Given the description of an element on the screen output the (x, y) to click on. 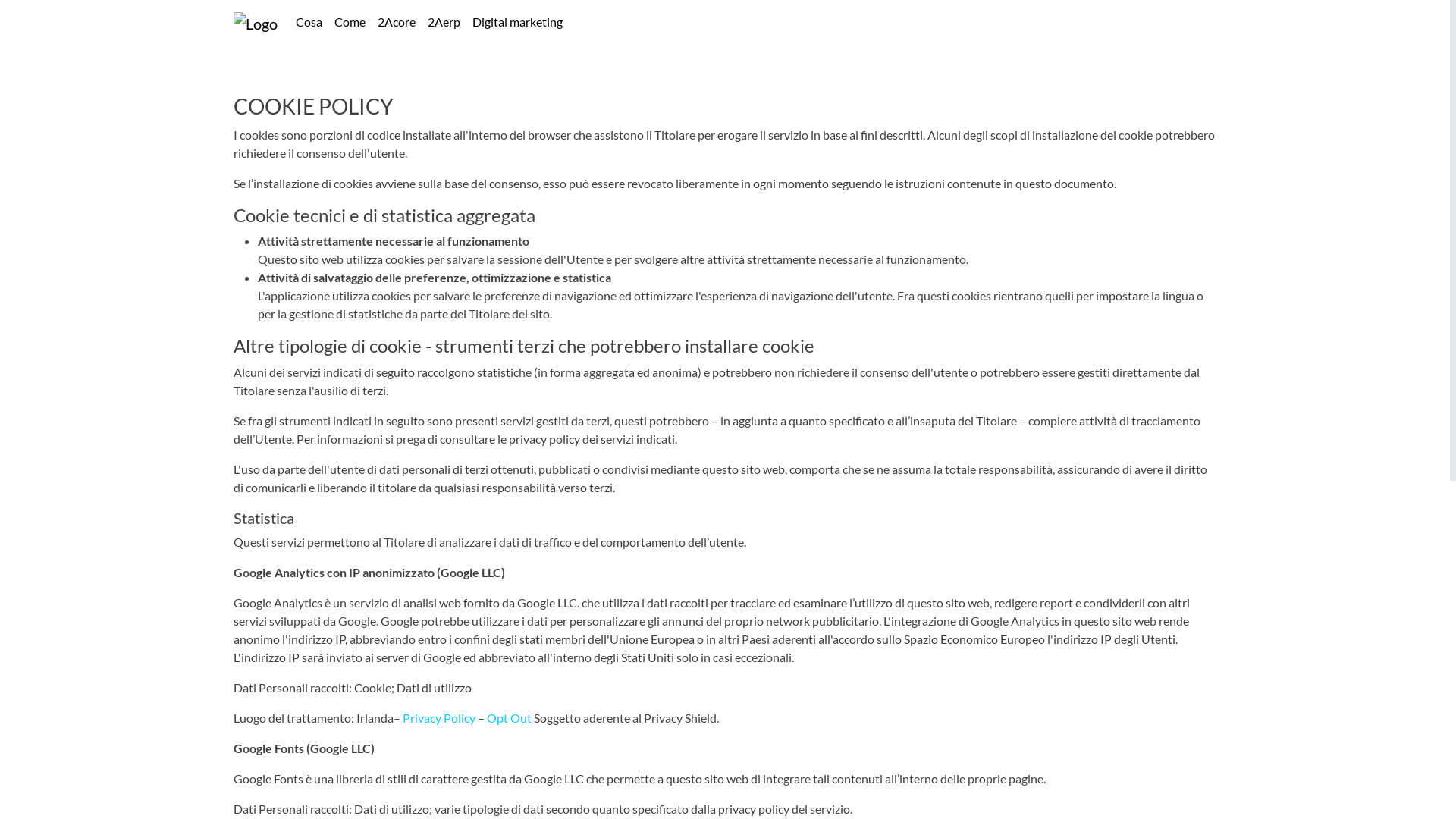
2Aerp Element type: text (443, 21)
Opt Out Element type: text (508, 717)
Digital marketing Element type: text (517, 21)
Come Element type: text (349, 21)
Cosa Element type: text (308, 21)
Privacy Policy Element type: text (438, 717)
2Acore Element type: text (396, 21)
